Given the description of an element on the screen output the (x, y) to click on. 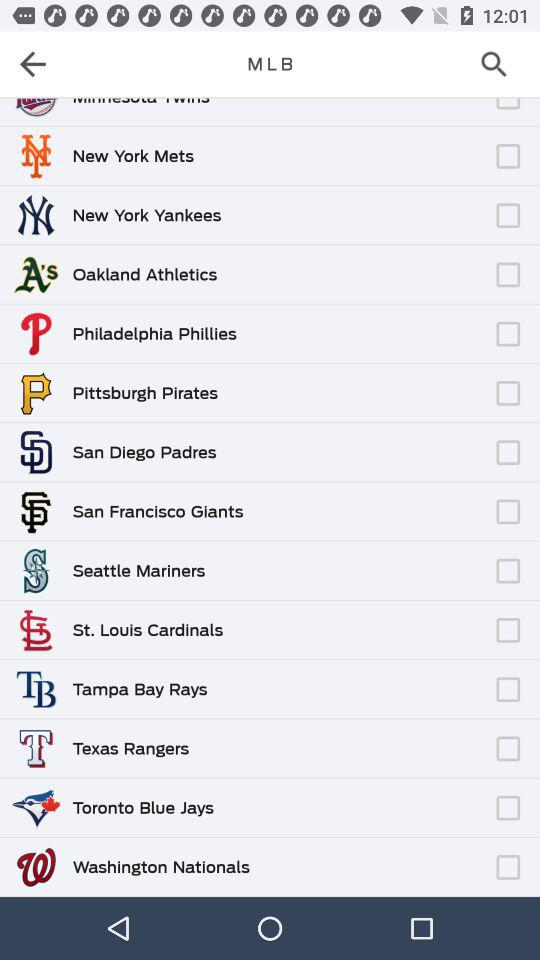
launch the icon next to the st. louis cardinals item (356, 620)
